Given the description of an element on the screen output the (x, y) to click on. 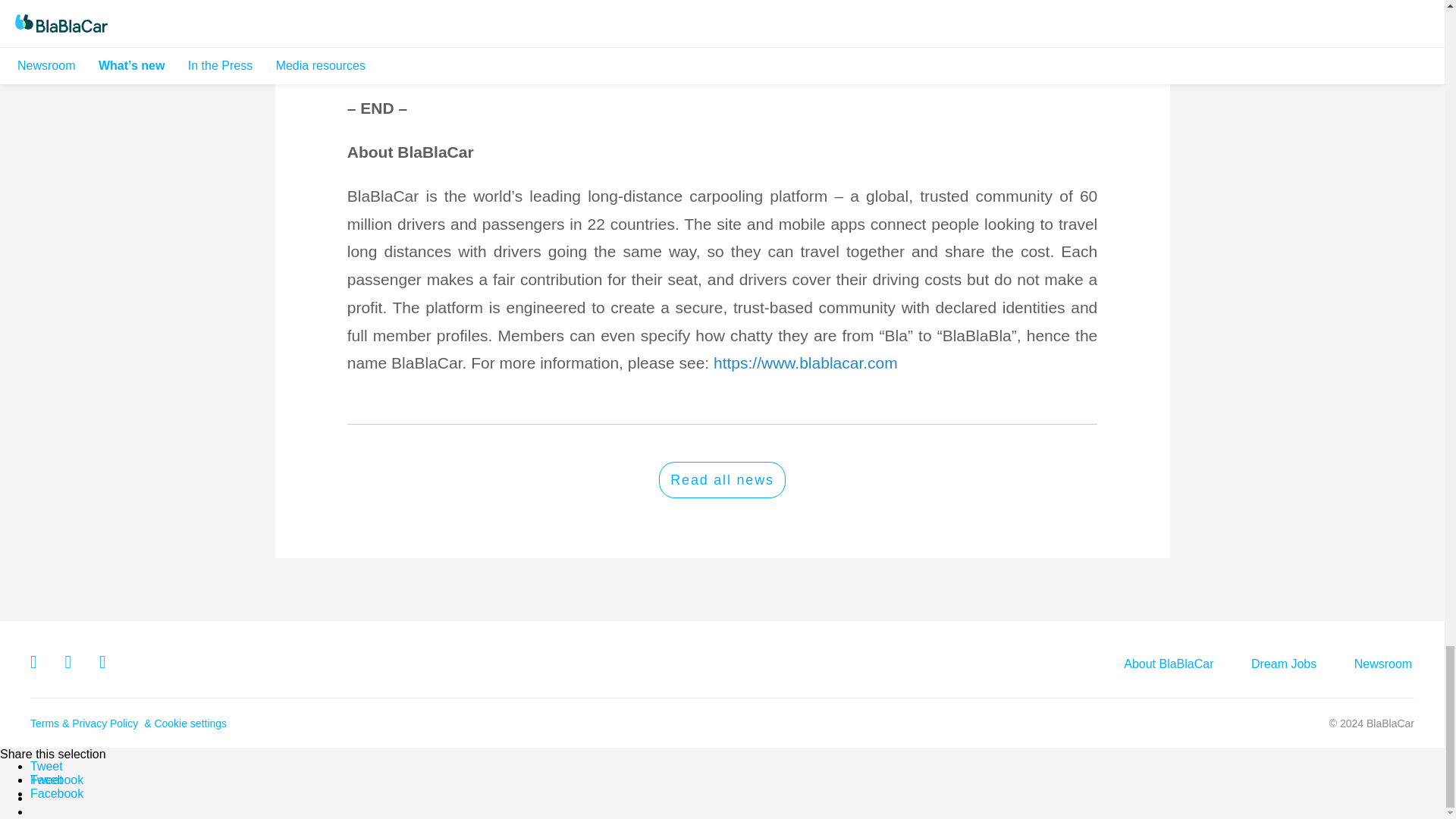
Share this selection by email (37, 797)
Cookie settings (190, 723)
Facebook (56, 793)
Share this selection on Facebook (56, 779)
Share this selection on Twitter (46, 779)
here (575, 64)
Facebook (56, 779)
Newsroom (1383, 664)
Terms (46, 723)
Read all news (721, 479)
Dream Jobs (1283, 664)
Privacy Policy (106, 723)
Share this selection on Twitter (46, 766)
About BlaBlaCar (1168, 664)
Tweet (46, 766)
